Given the description of an element on the screen output the (x, y) to click on. 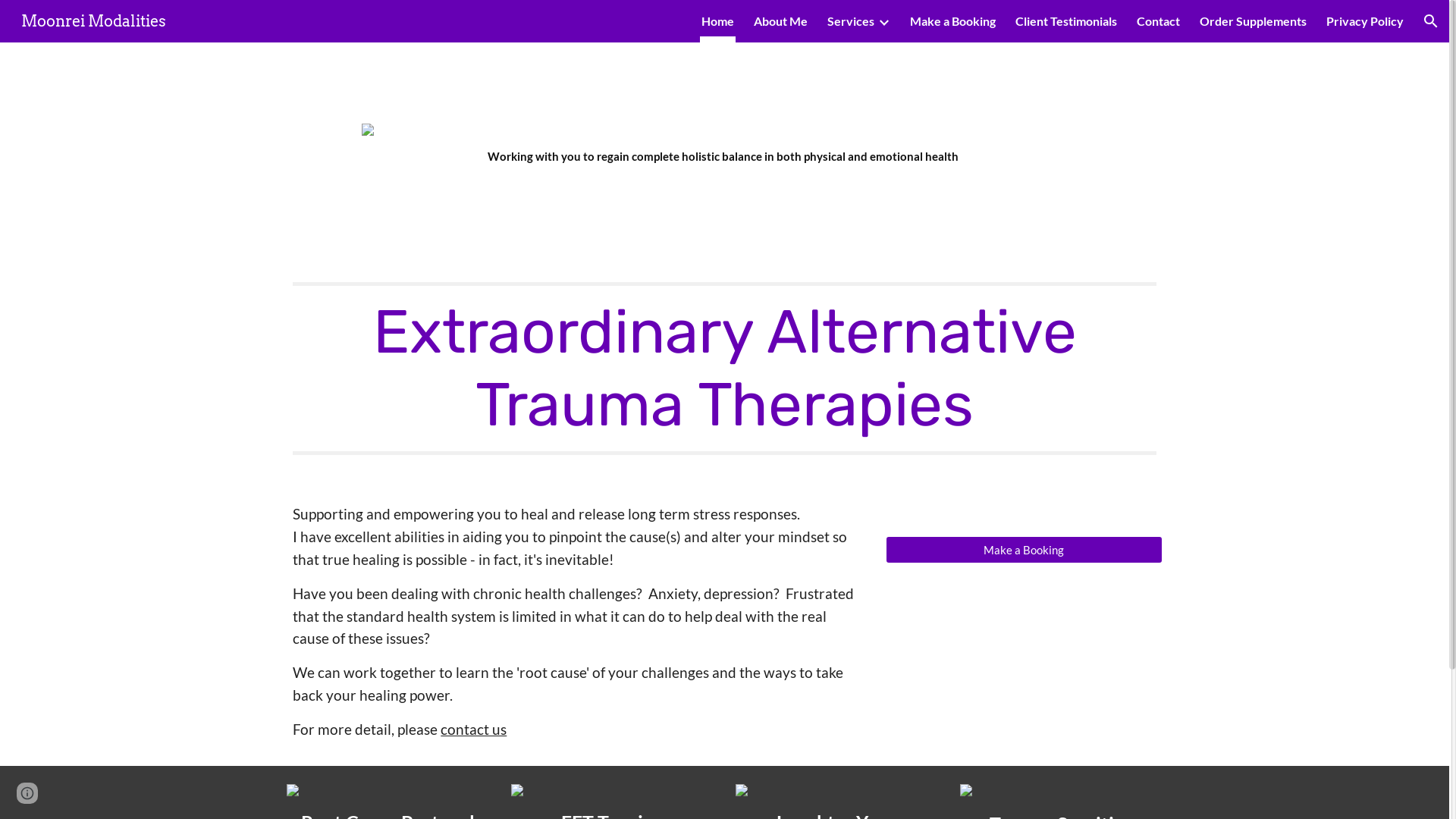
Make a Booking Element type: text (952, 20)
Privacy Policy Element type: text (1364, 20)
Contact Element type: text (1157, 20)
Order Supplements Element type: text (1252, 20)
Make a Booking Element type: text (1023, 549)
Home Element type: text (717, 20)
Services Element type: text (850, 20)
contact us Element type: text (473, 729)
Expand/Collapse Element type: hover (883, 20)
Client Testimonials Element type: text (1066, 20)
About Me Element type: text (780, 20)
Moonrei Modalities Element type: text (93, 19)
